Given the description of an element on the screen output the (x, y) to click on. 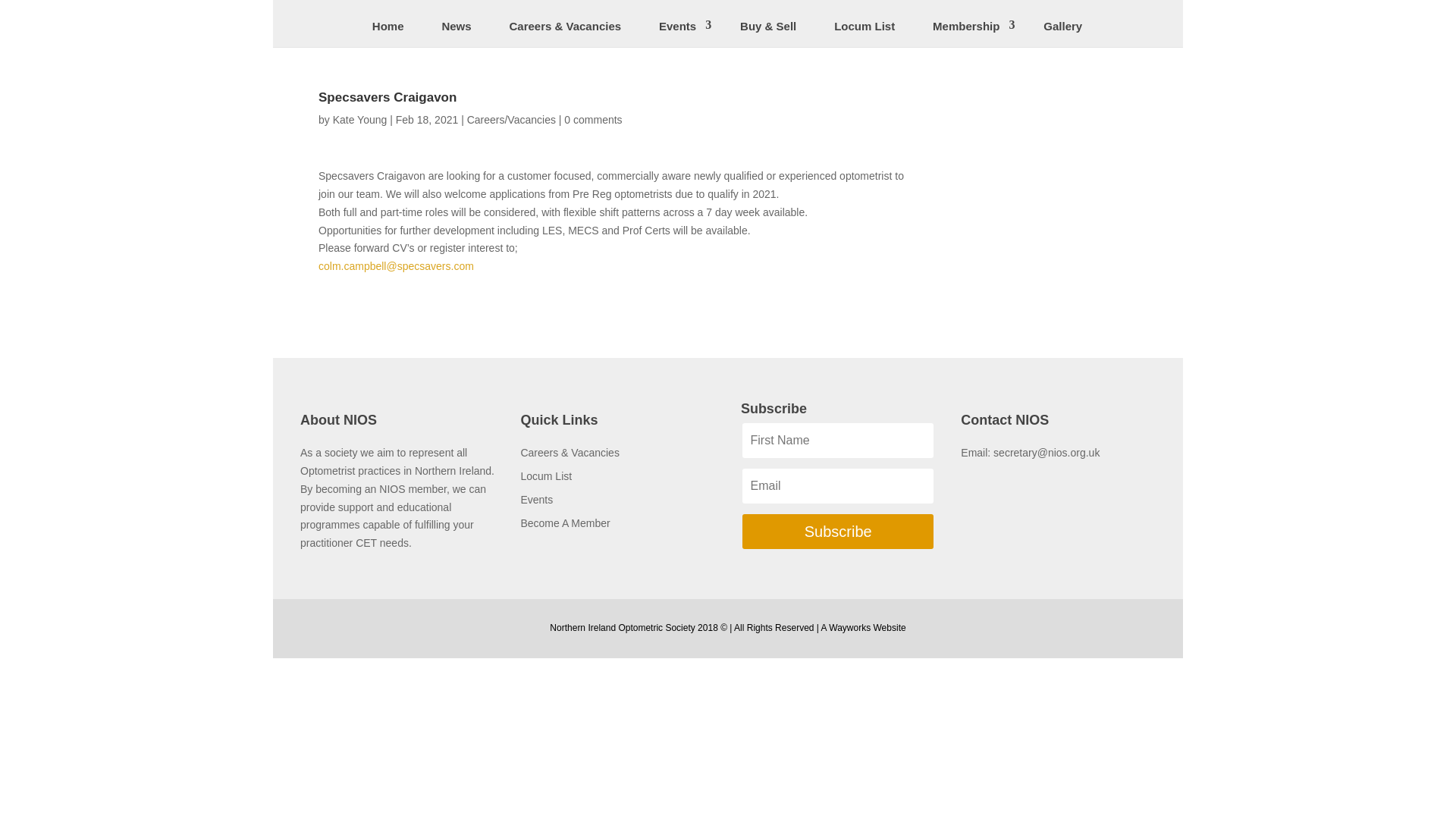
0 comments (592, 119)
Gallery (1061, 30)
Subscribe (837, 531)
Locum List (864, 30)
Become A Member (564, 522)
Locum List (545, 476)
Kate Young (360, 119)
News (456, 30)
Events (680, 30)
Home (387, 30)
